Given the description of an element on the screen output the (x, y) to click on. 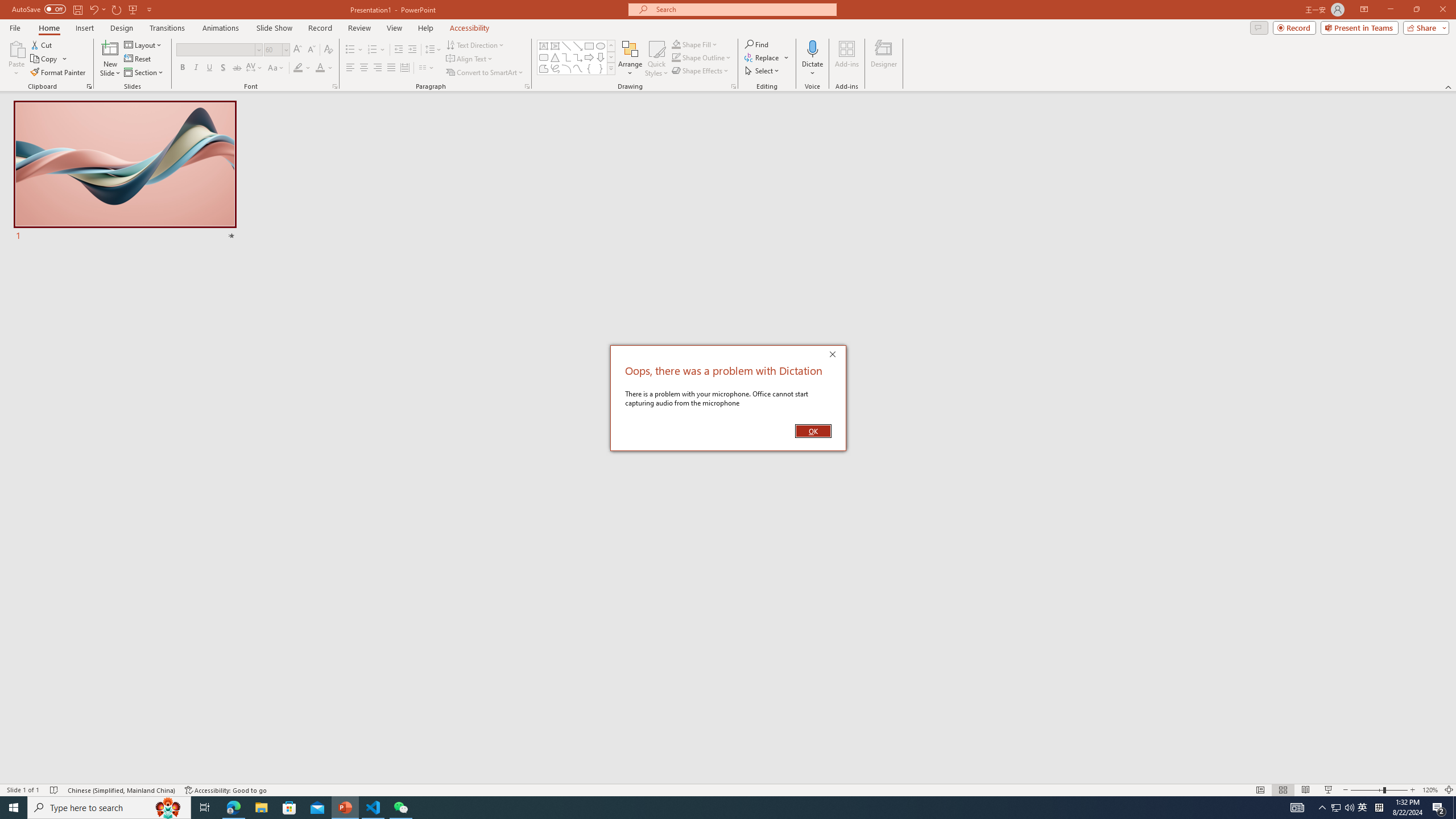
Left Brace (589, 68)
Find... (756, 44)
Change Case (276, 67)
Underline (209, 67)
Convert to SmartArt (485, 72)
Text Highlight Color Yellow (297, 67)
Bold (182, 67)
Line Arrow (577, 45)
Cut (42, 44)
Shape Fill Orange, Accent 2 (675, 44)
